Given the description of an element on the screen output the (x, y) to click on. 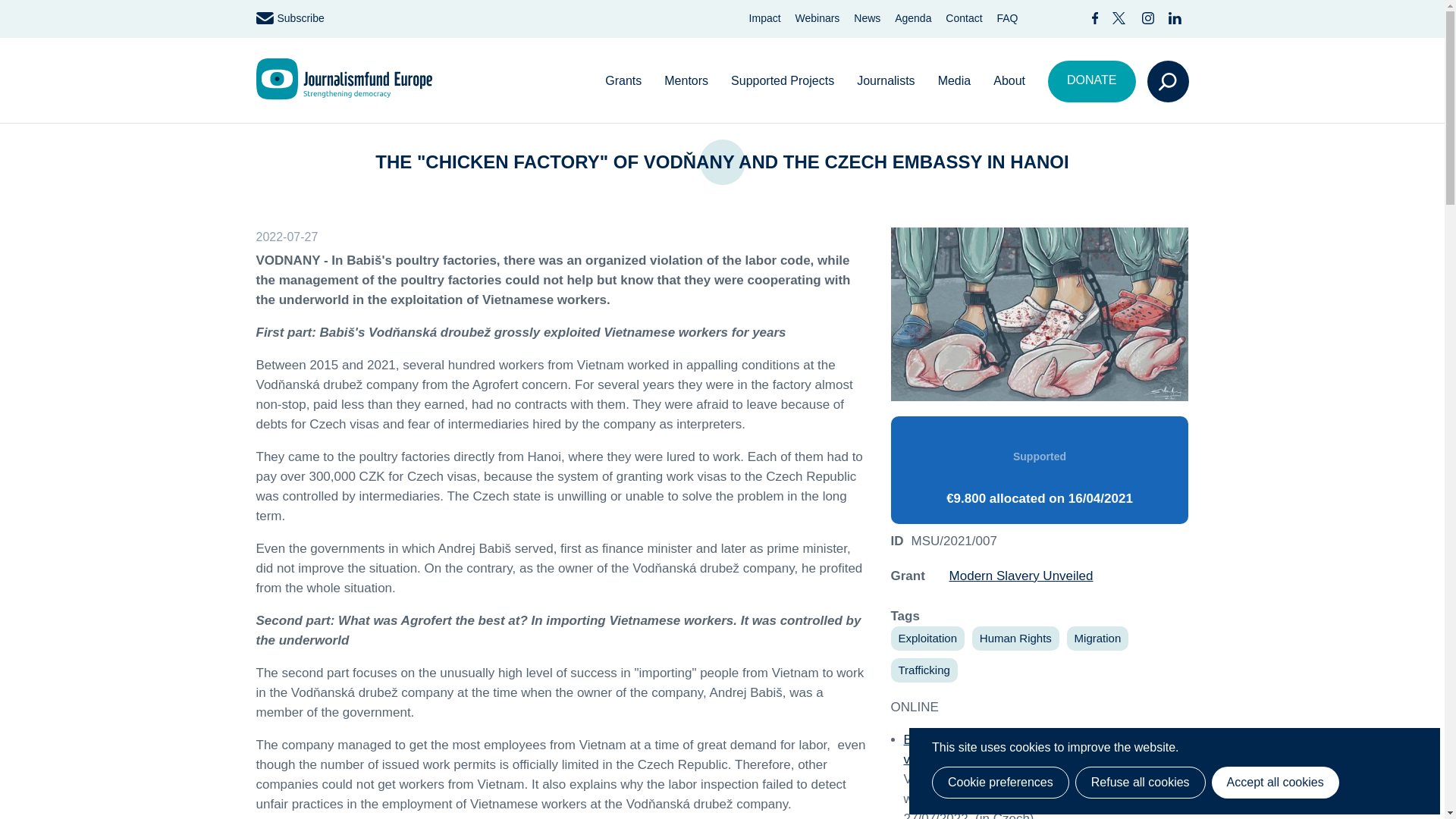
Instagram (1147, 18)
FAQ (1006, 18)
Journalismfund Europe (344, 78)
Search site (1178, 81)
Impact (764, 18)
Subscribe (290, 18)
Media (954, 81)
Home (344, 78)
Agenda (913, 18)
Twitter (1119, 18)
